Given the description of an element on the screen output the (x, y) to click on. 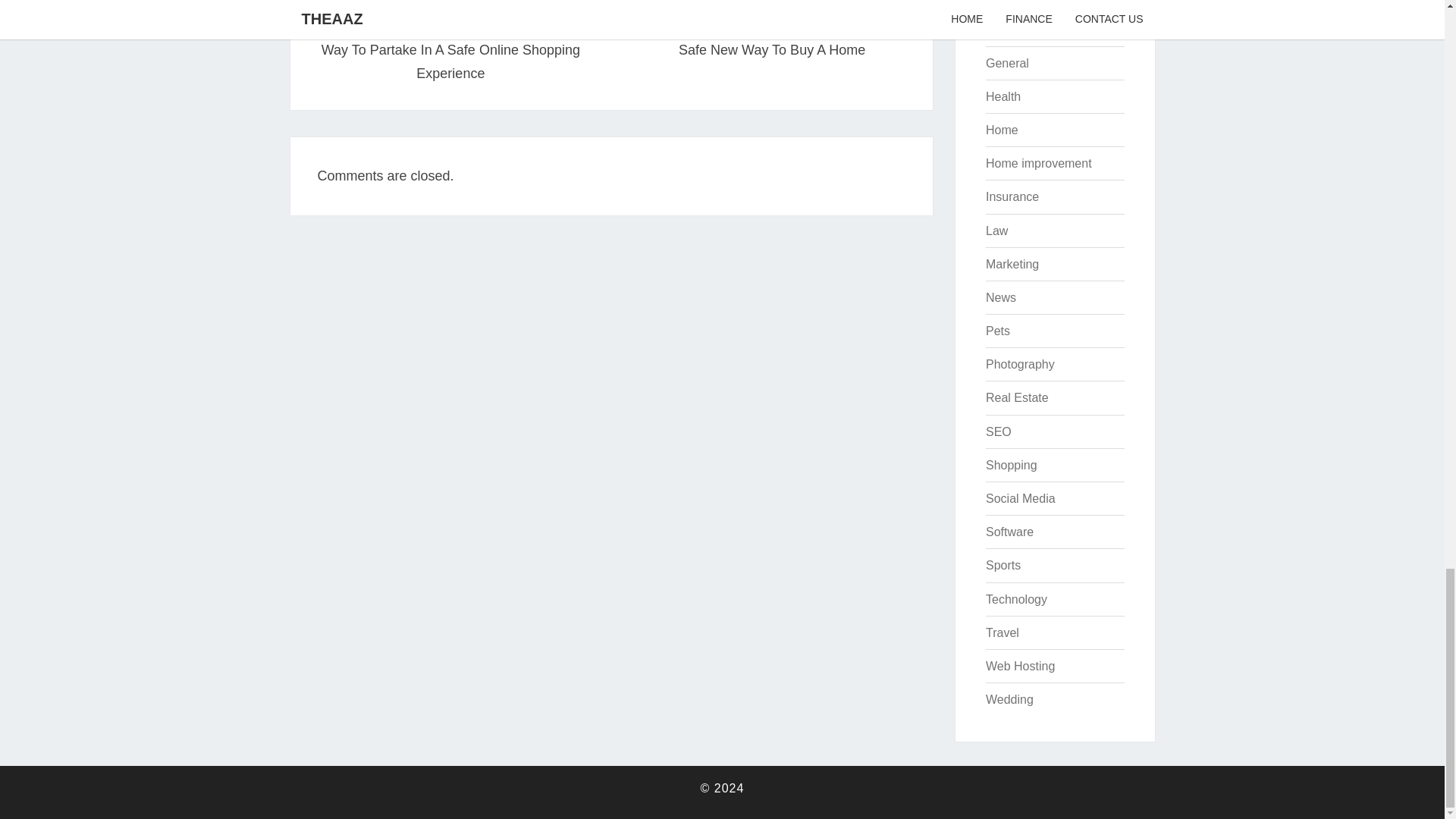
Food (999, 1)
Marketing (1012, 264)
Pets (997, 330)
Insurance (1012, 196)
General (1007, 62)
News (450, 50)
Real Estate (771, 38)
Home (1000, 297)
Games (1016, 397)
Health (1001, 129)
Home improvement (1005, 29)
Photography (1002, 96)
Law (1038, 163)
